Given the description of an element on the screen output the (x, y) to click on. 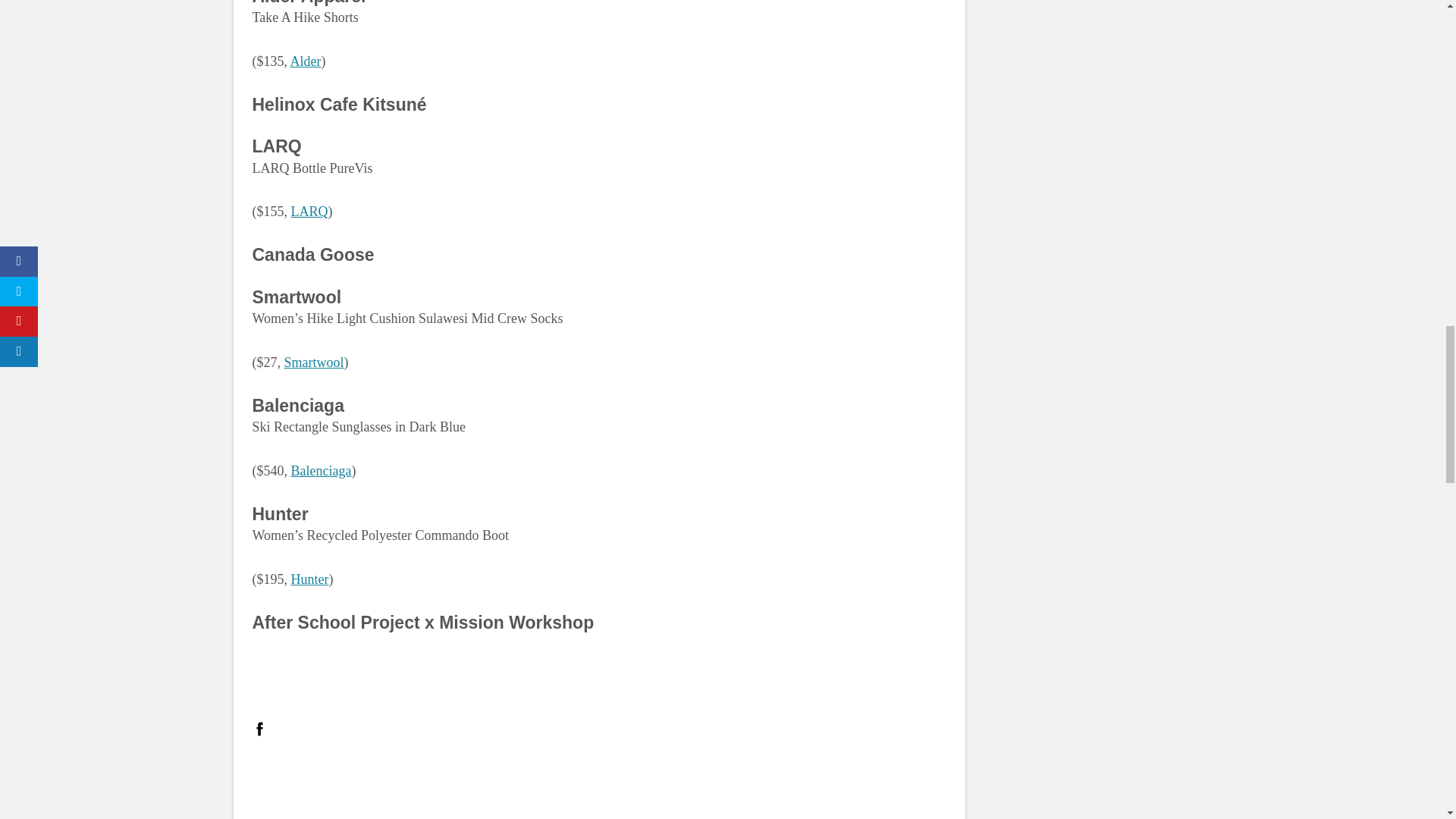
Facebook (258, 728)
